Given the description of an element on the screen output the (x, y) to click on. 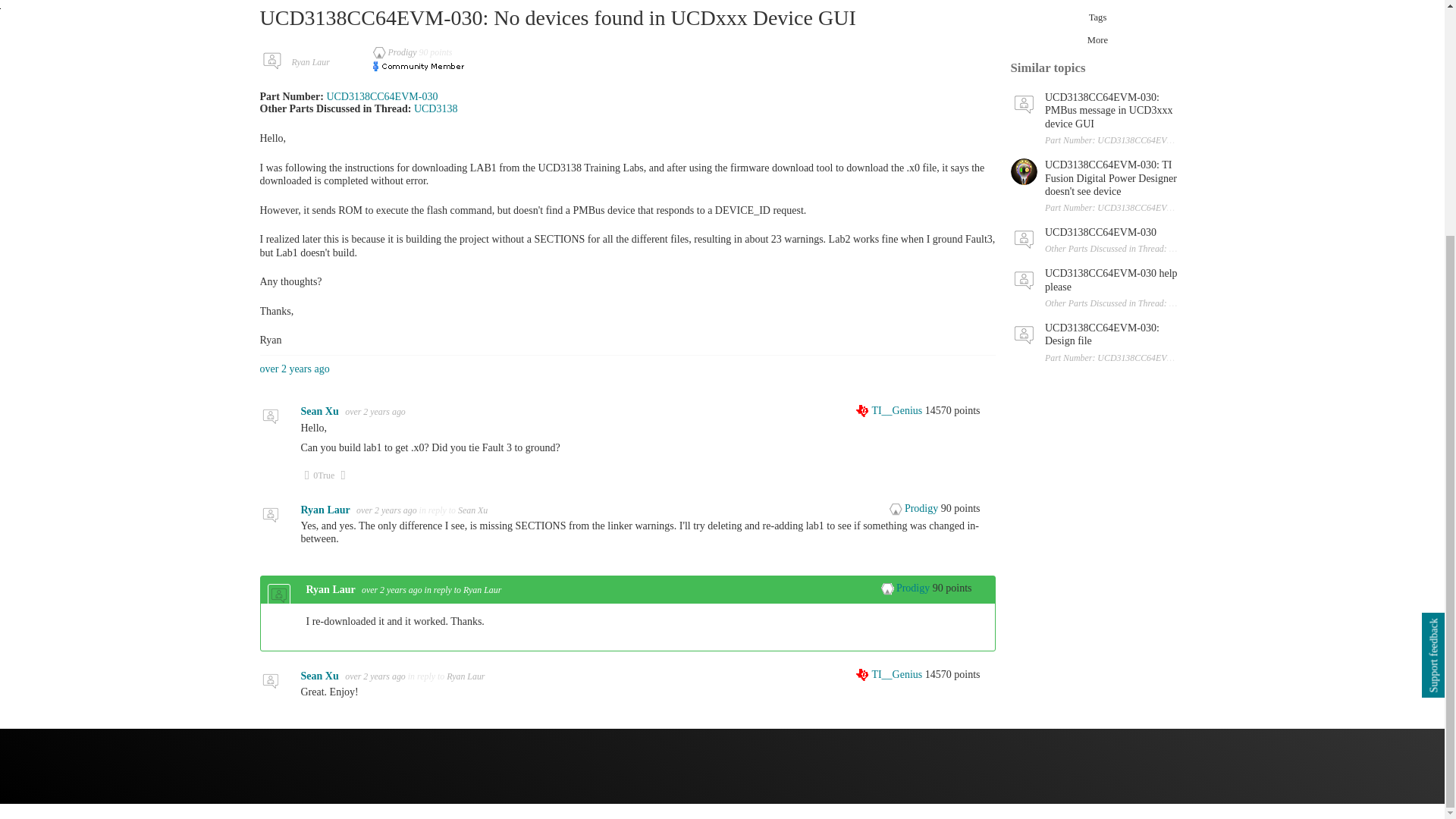
Click here for explanation of levels (890, 674)
Click here for explanation of levels (906, 587)
Link to Tool Folder (382, 96)
Link to Product Folder (435, 108)
Click here for explanation of levels (890, 410)
Click here for explanation of levels (395, 51)
Click here for explanation of levels (914, 508)
